Given the description of an element on the screen output the (x, y) to click on. 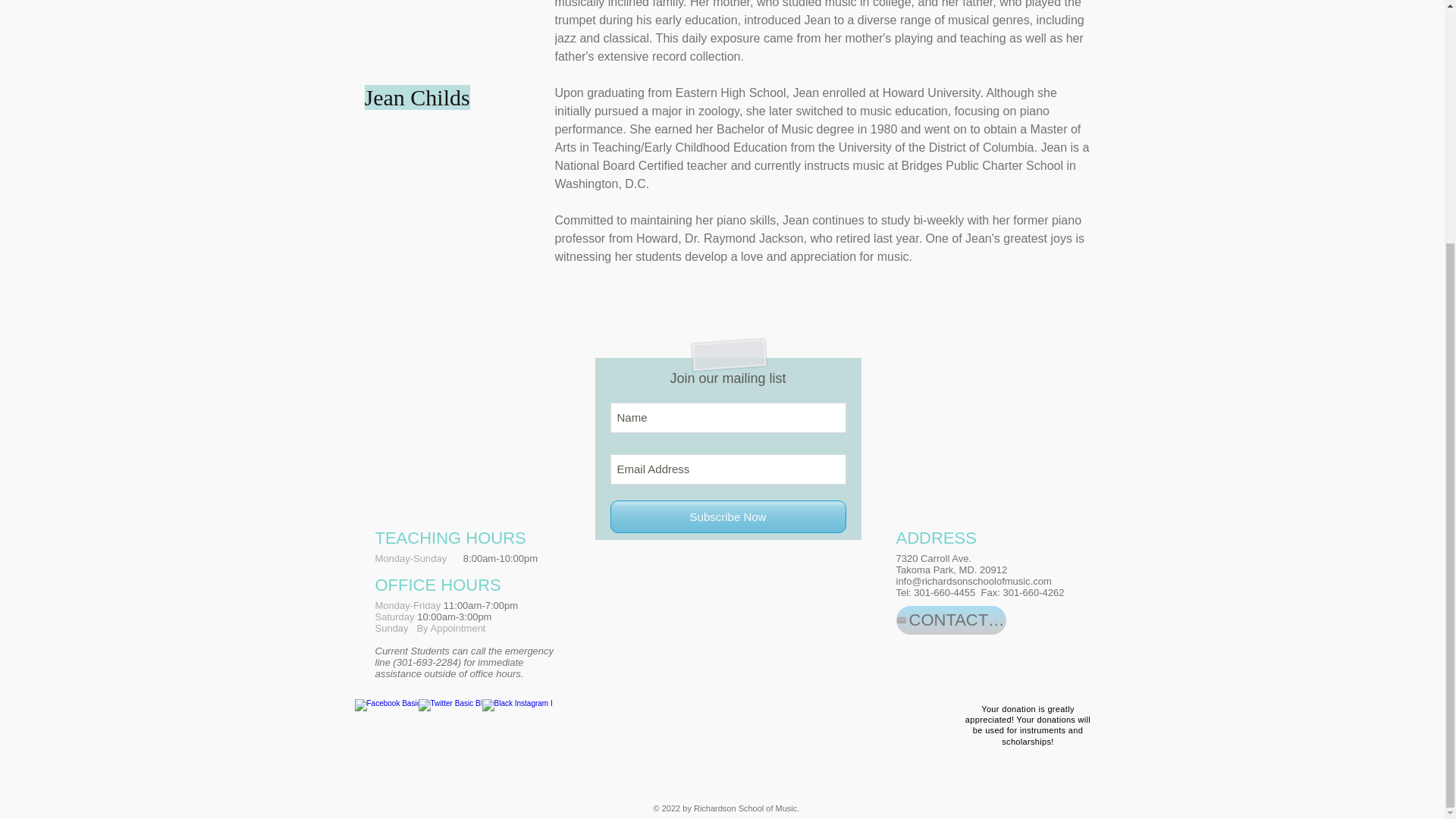
CONTACT US (951, 620)
jean.jpg (447, 56)
Subscribe Now (727, 516)
